Given the description of an element on the screen output the (x, y) to click on. 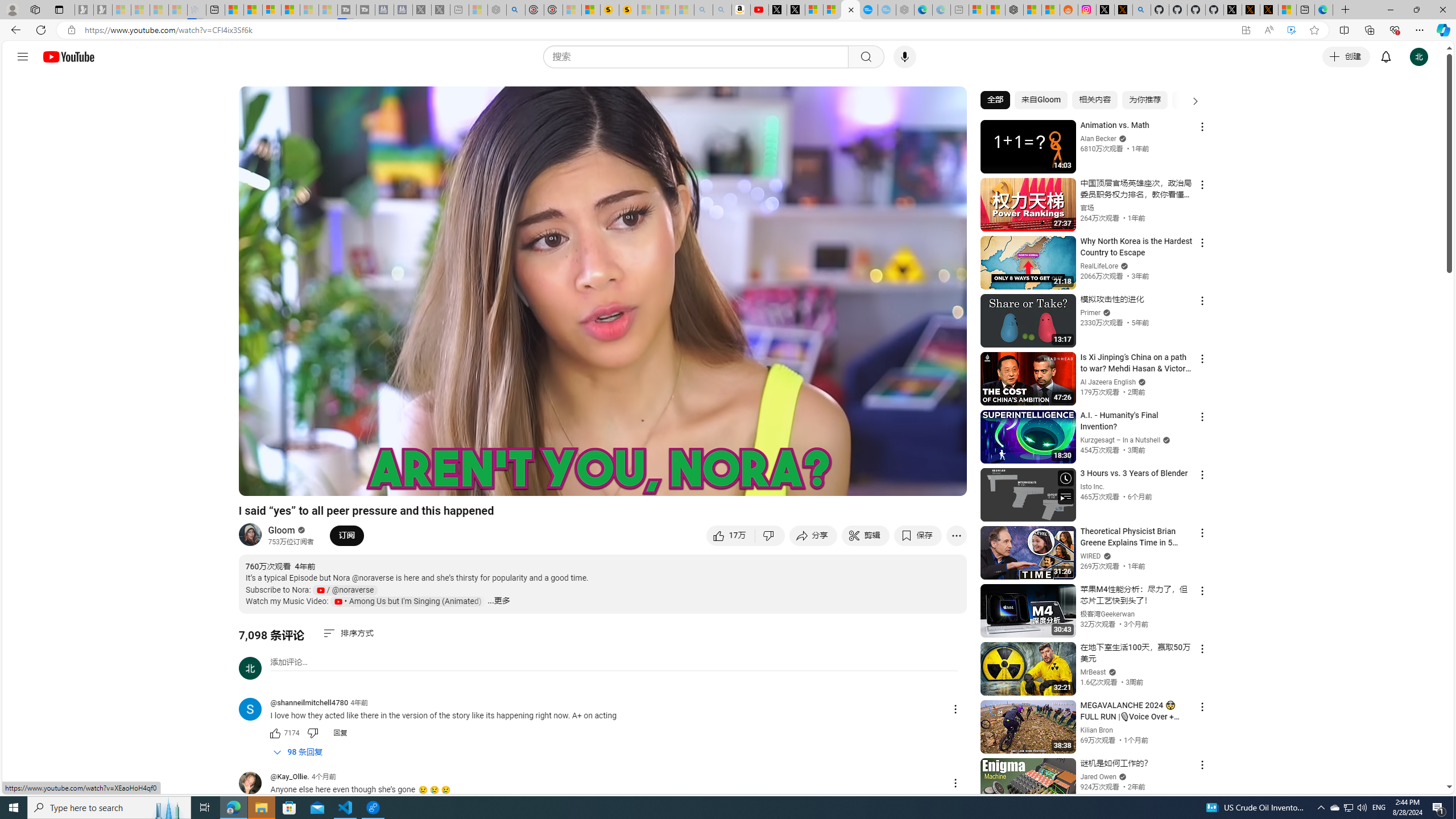
Microsoft account | Microsoft Account Privacy Settings (977, 9)
Collections (1369, 29)
Copilot (Ctrl+Shift+.) (1442, 29)
X Privacy Policy (1268, 9)
Workspaces (34, 9)
